Given the description of an element on the screen output the (x, y) to click on. 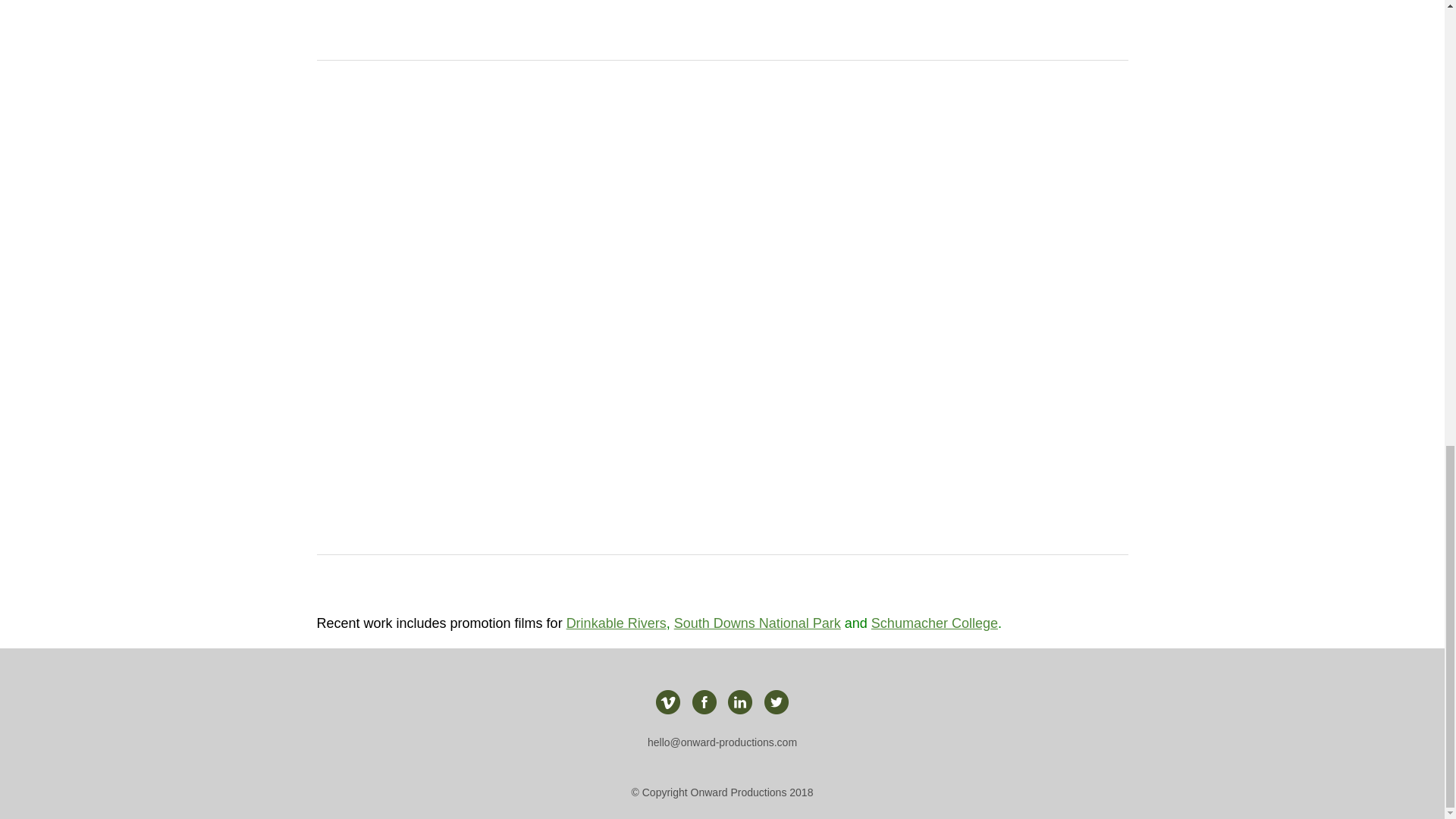
South Downs National Park (757, 622)
Schumacher College (933, 622)
Drinkable Rivers (616, 622)
